Given the description of an element on the screen output the (x, y) to click on. 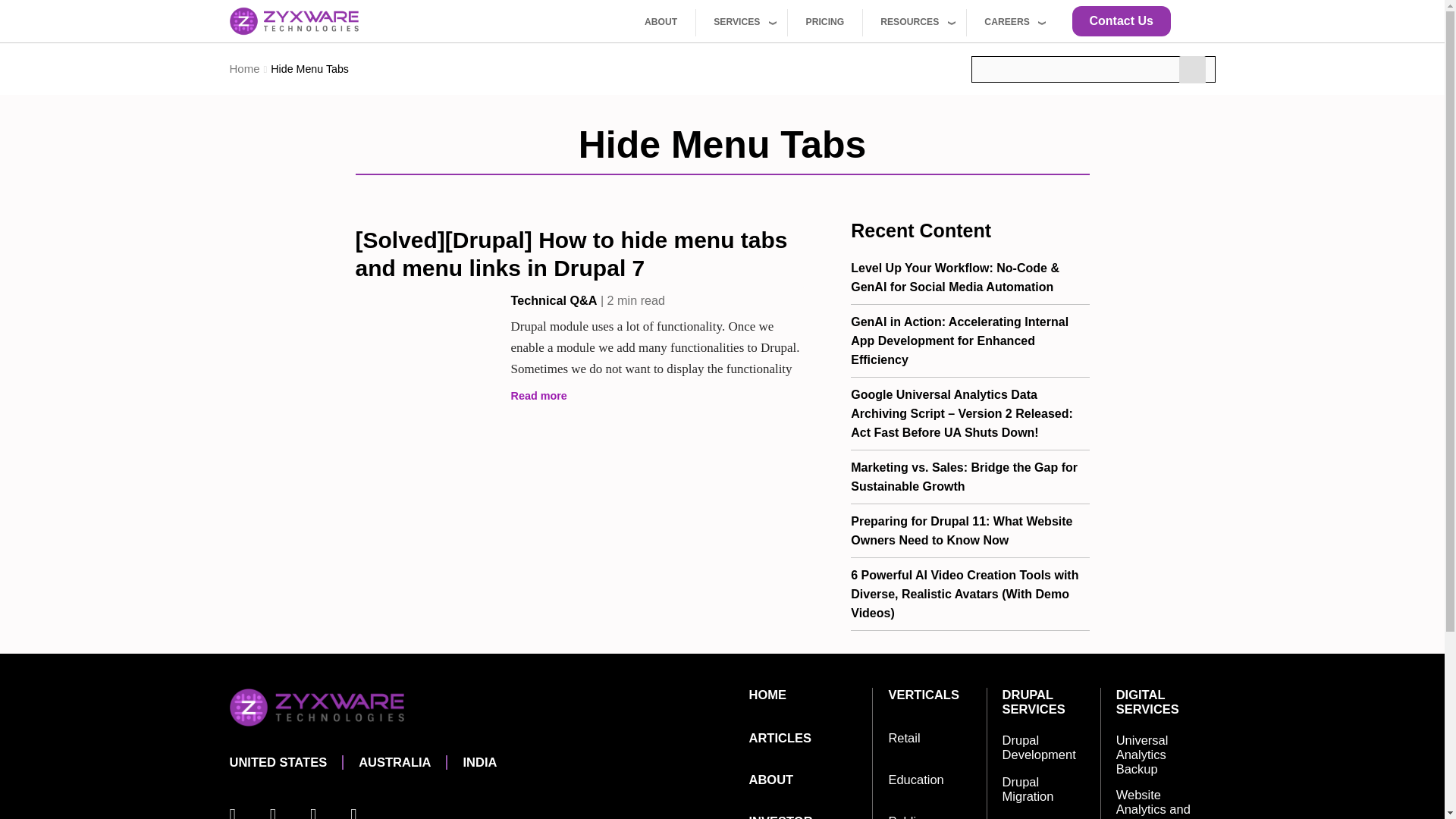
SERVICES (741, 22)
CAREERS (1011, 22)
Apply (1192, 69)
PRICING (824, 22)
ABOUT (661, 22)
Apply (1192, 69)
Home (293, 21)
Home (245, 68)
Contact Us (1120, 20)
